Given the description of an element on the screen output the (x, y) to click on. 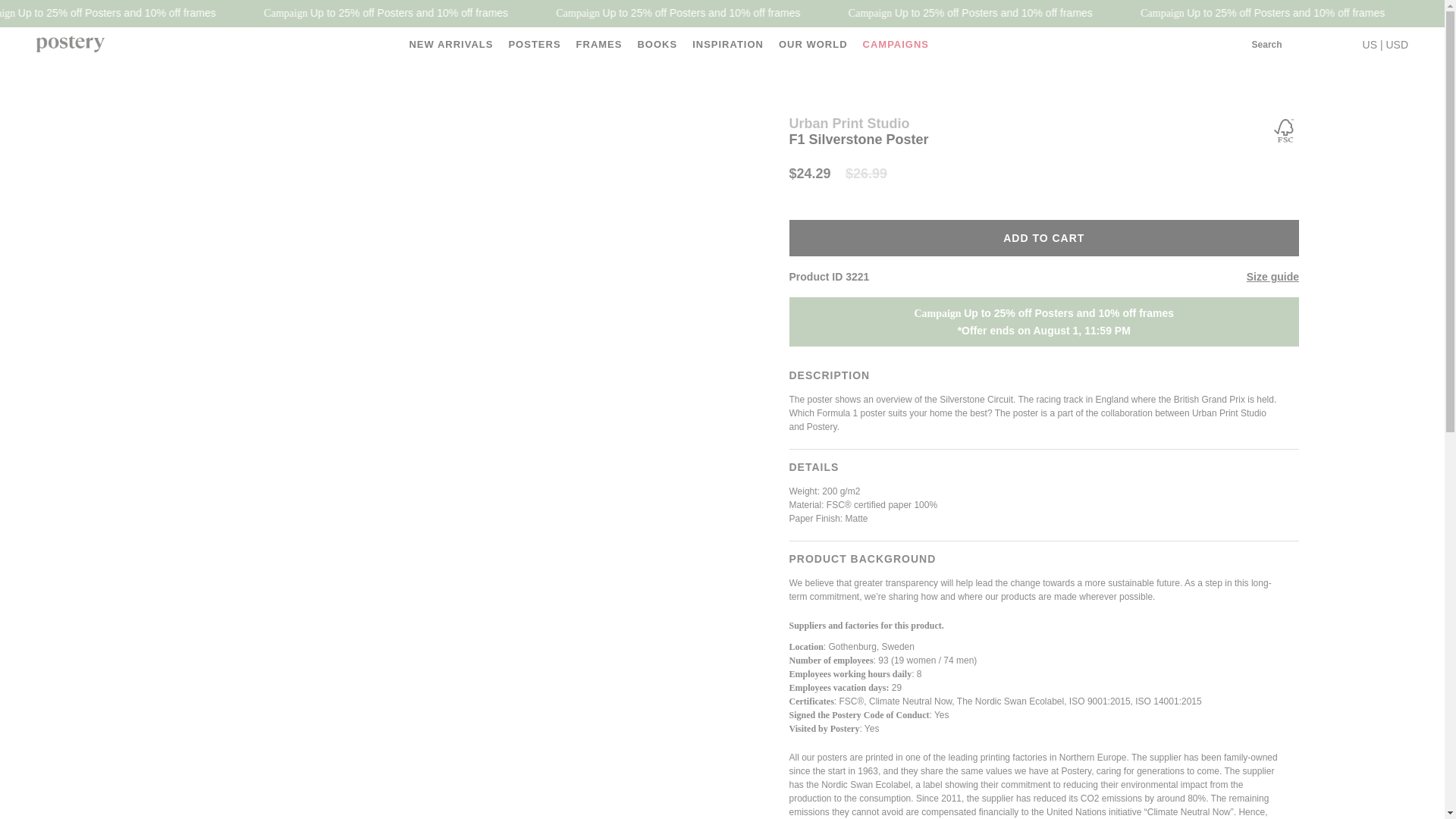
Postery Logo (70, 45)
Select country (1384, 44)
Add to Cart (1043, 238)
